Given the description of an element on the screen output the (x, y) to click on. 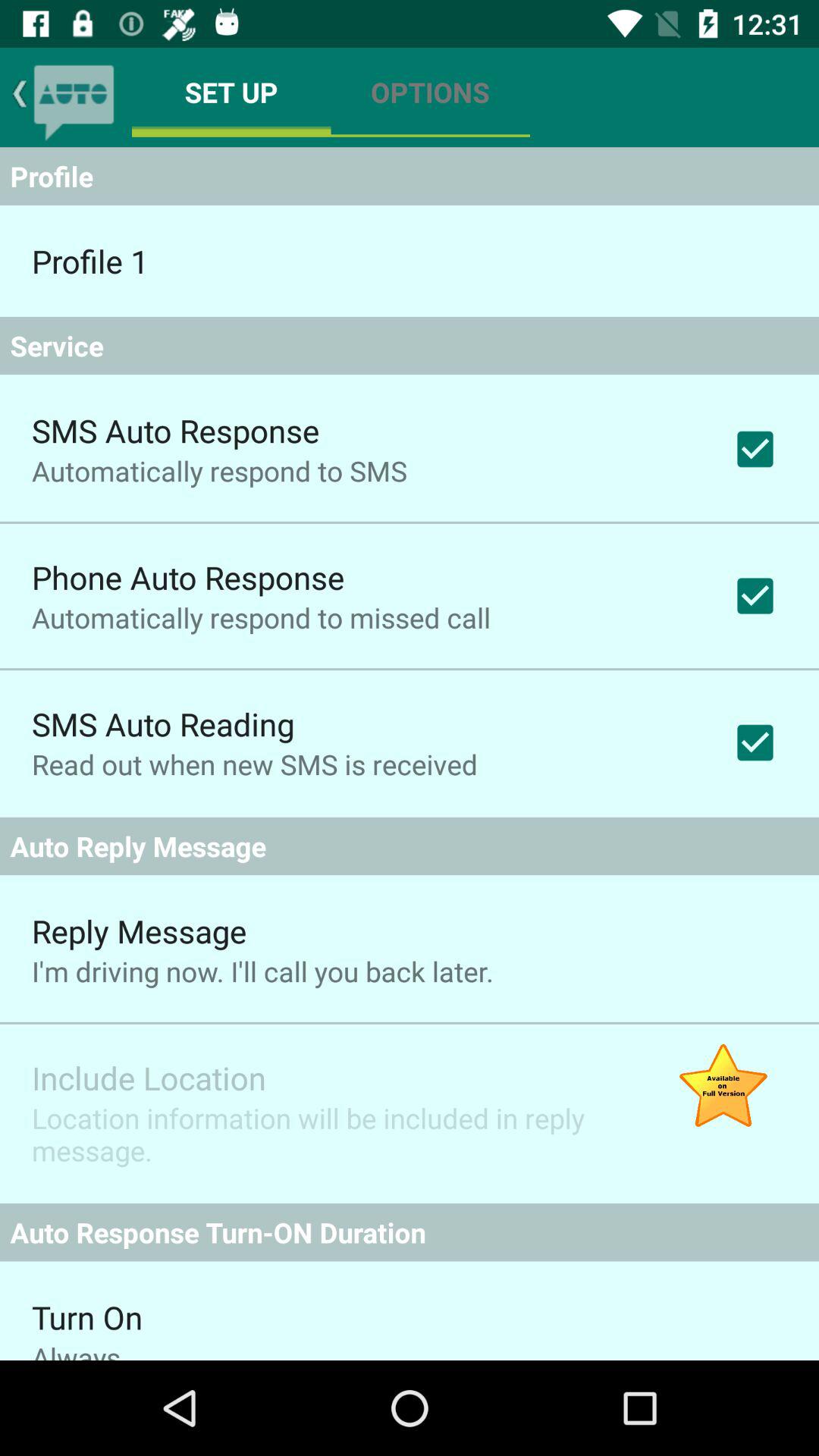
swipe until include location item (148, 1077)
